Given the description of an element on the screen output the (x, y) to click on. 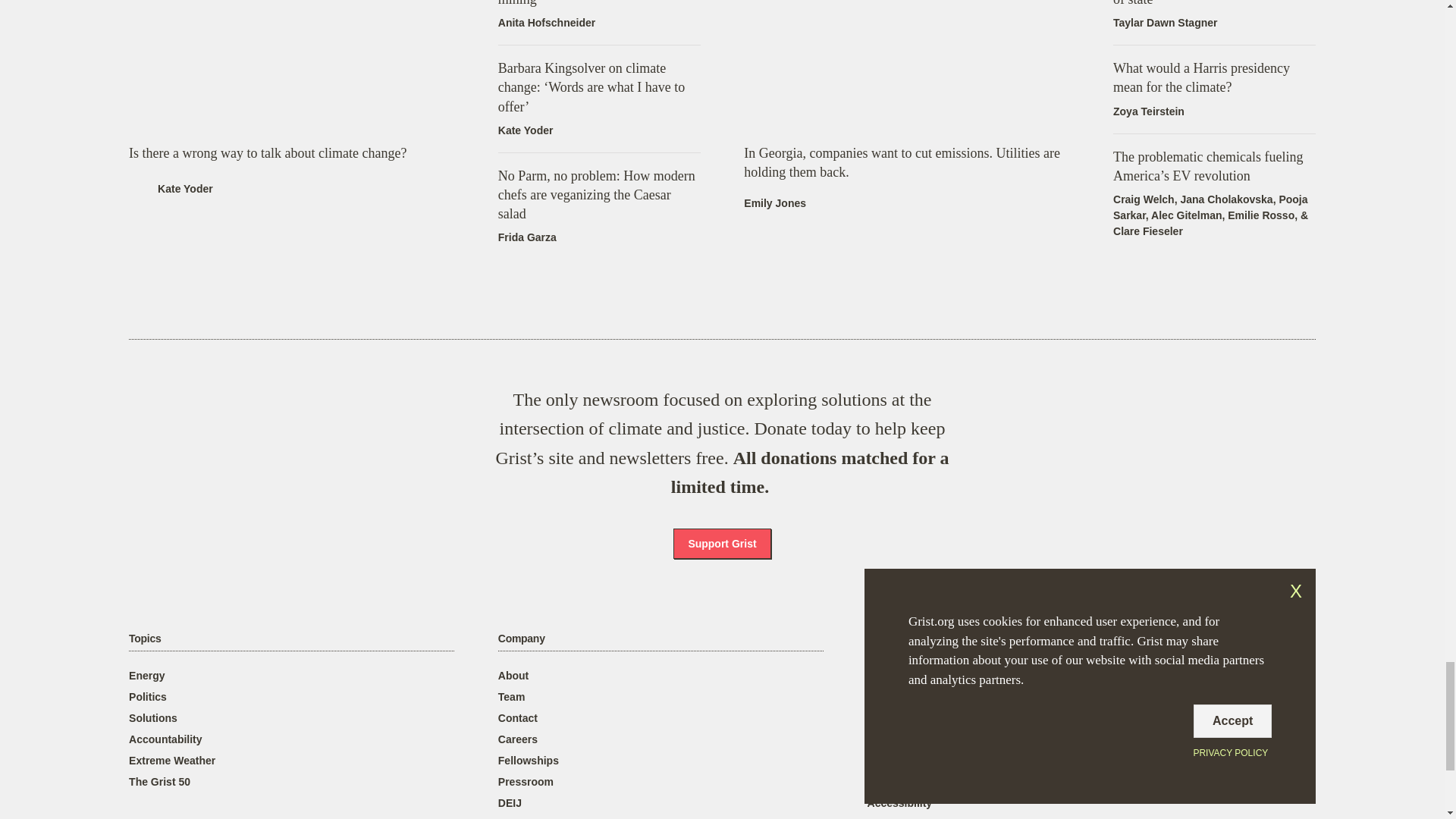
Topics (144, 638)
More (879, 638)
Company (520, 638)
